Given the description of an element on the screen output the (x, y) to click on. 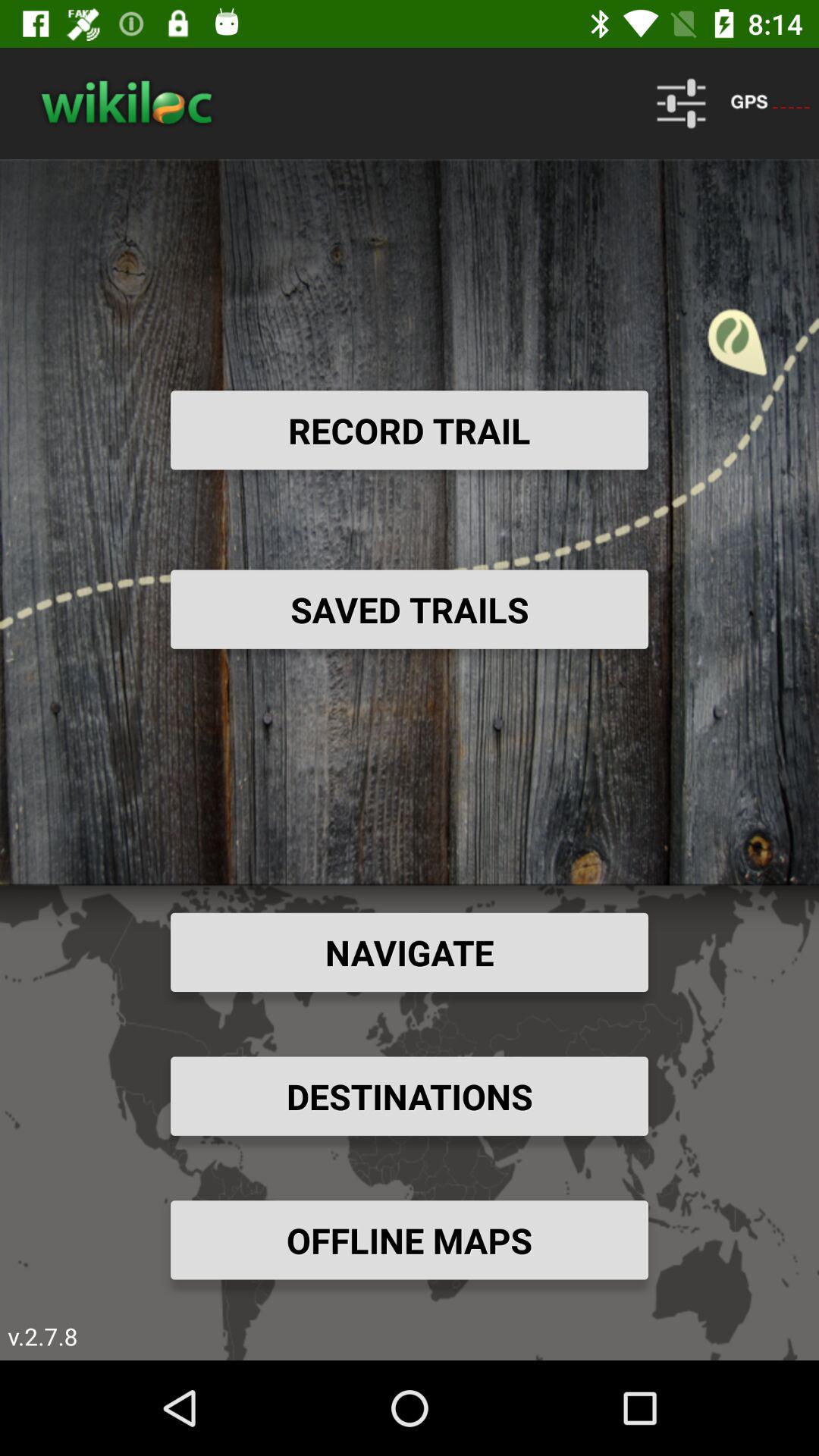
turn off the offline maps (409, 1239)
